Given the description of an element on the screen output the (x, y) to click on. 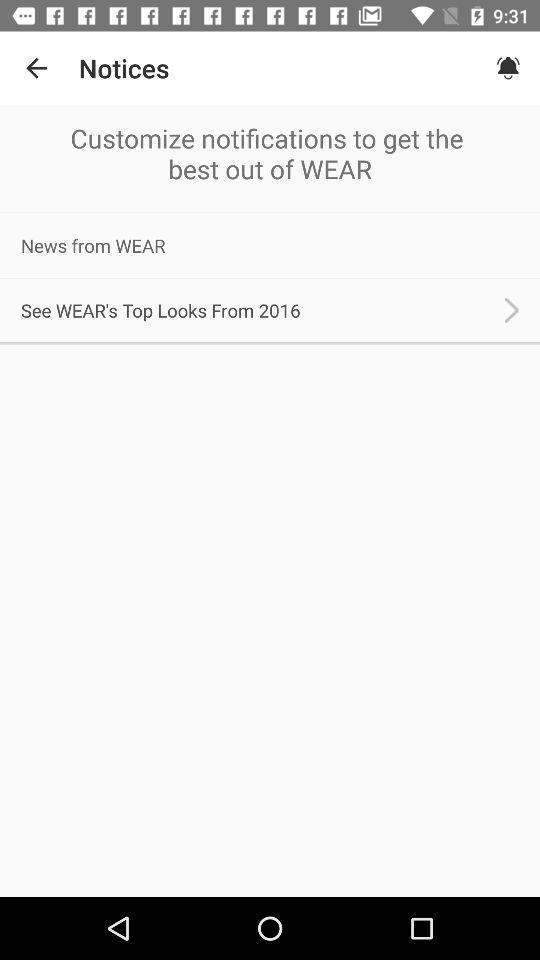
open the icon to the right of notices icon (508, 67)
